Given the description of an element on the screen output the (x, y) to click on. 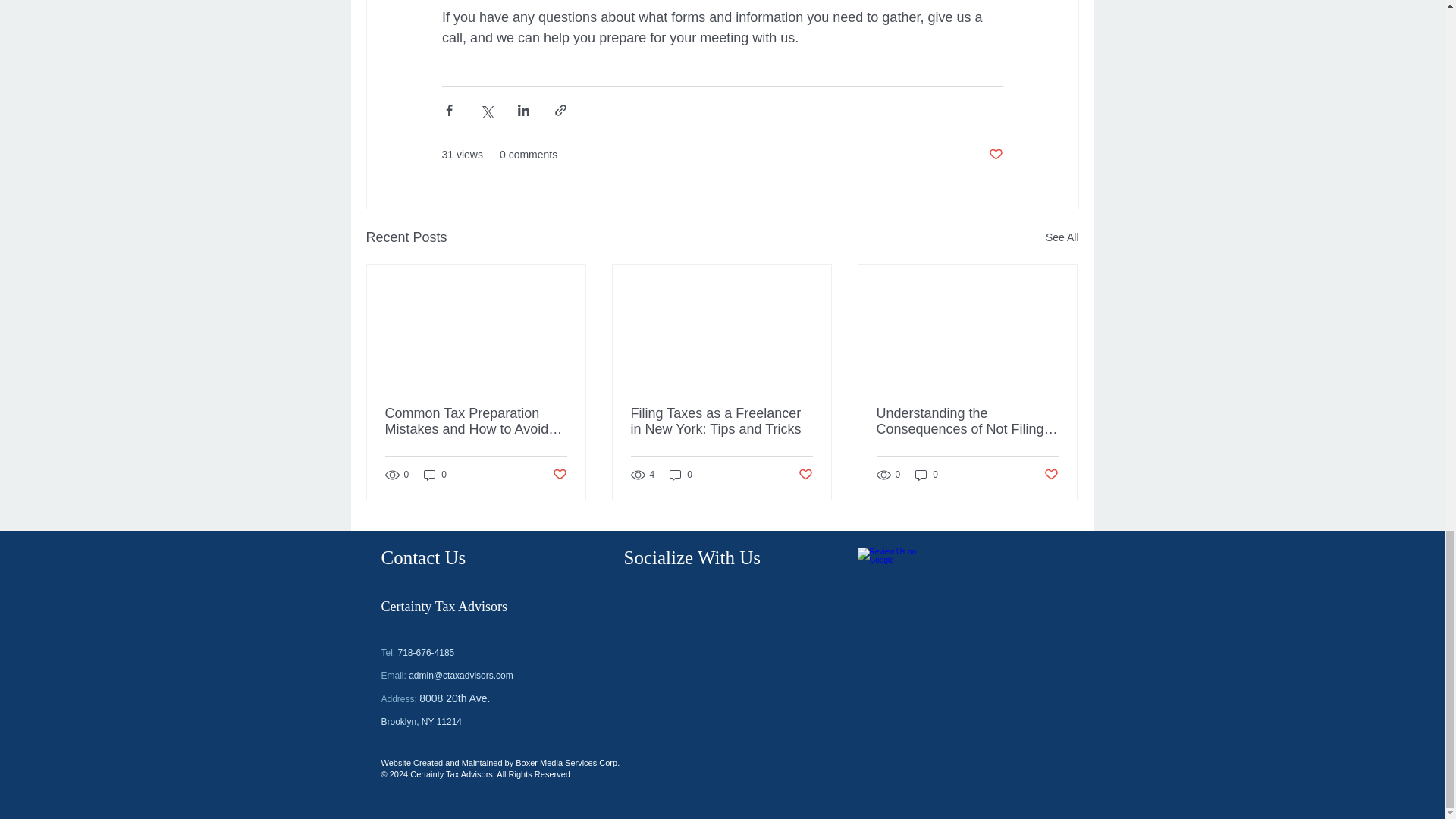
Post not marked as liked (558, 474)
Filing Taxes as a Freelancer in New York: Tips and Tricks (721, 421)
0 (435, 474)
Common Tax Preparation Mistakes and How to Avoid Them (476, 421)
Post not marked as liked (995, 154)
Post not marked as liked (804, 474)
0 (681, 474)
See All (1061, 237)
